Given the description of an element on the screen output the (x, y) to click on. 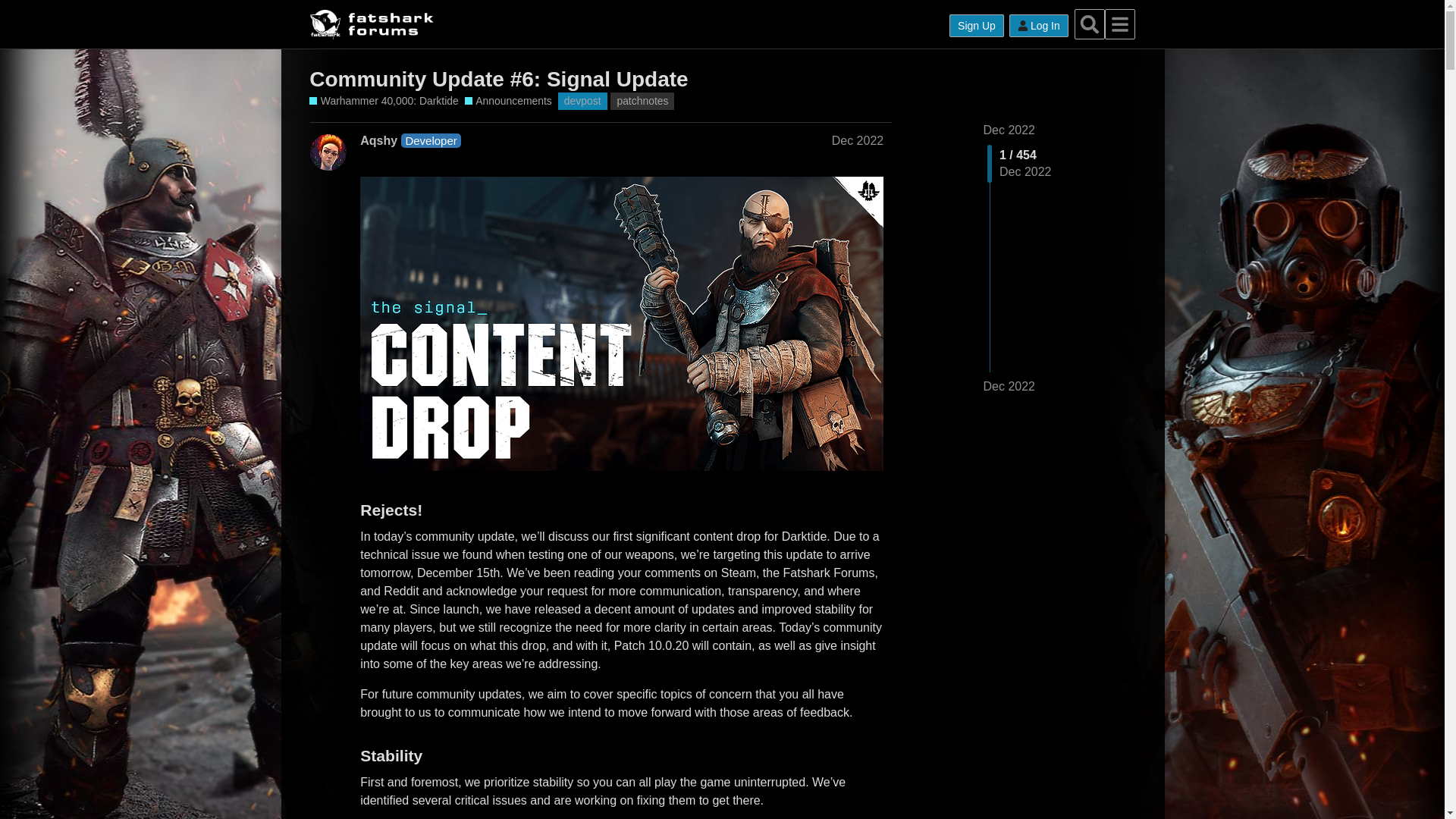
Dec 2022 (857, 140)
patchnotes (642, 100)
Jump to the first post (1008, 129)
Developer (430, 140)
Warhammer 40,000: Darktide (383, 101)
Announcements (507, 101)
Darktide Developer Announcements can be seen here. (507, 101)
menu (1120, 24)
Dec 2022 (1008, 386)
Jump to the last post (1008, 386)
Search (1089, 24)
Dec 2022 (1008, 129)
Log In (1038, 25)
Sign Up (976, 25)
